Given the description of an element on the screen output the (x, y) to click on. 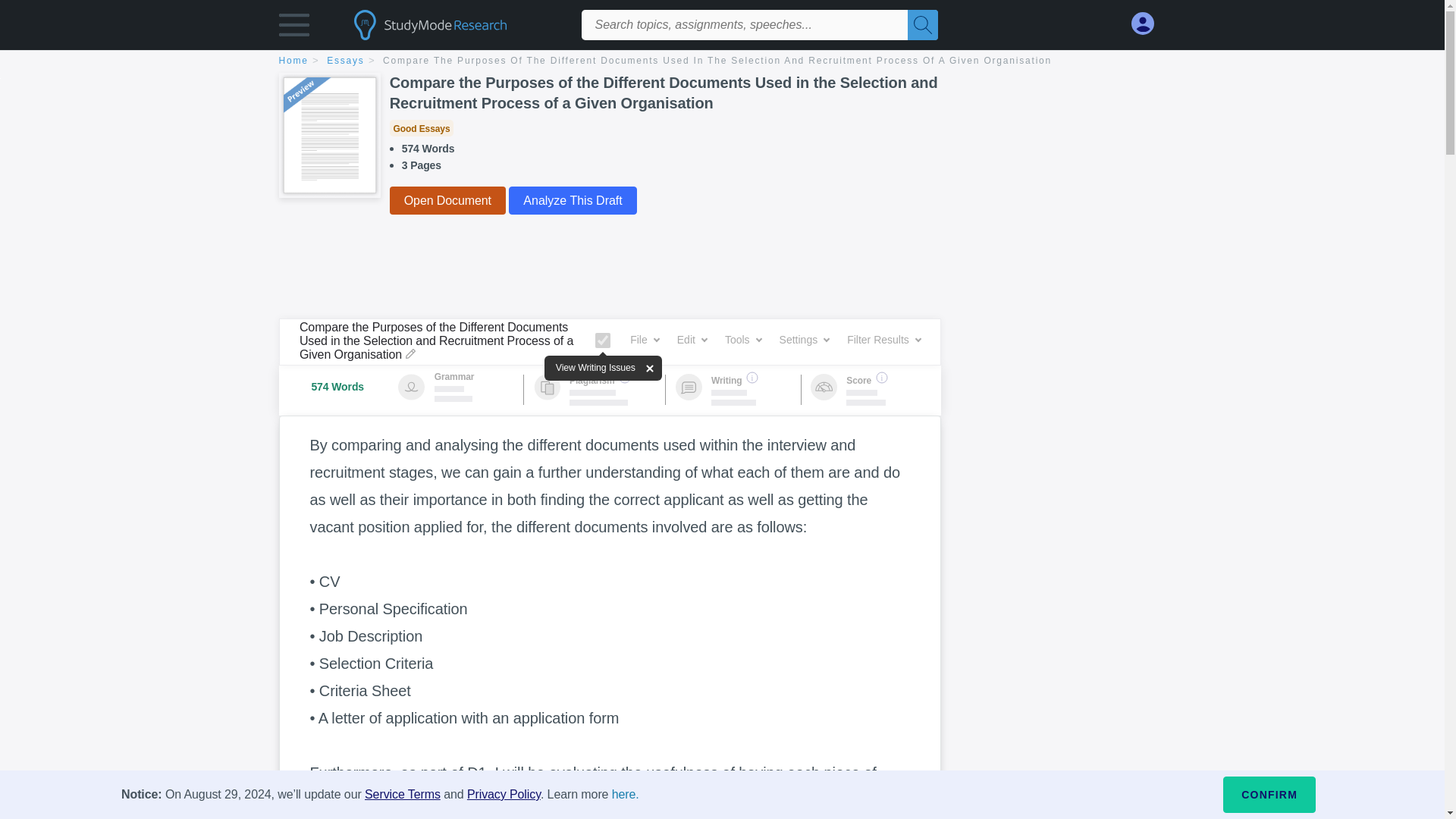
on (602, 340)
Filter Results (883, 339)
Edit (691, 339)
Tools (743, 339)
studymode logo (456, 24)
Settings (803, 339)
Open Document (447, 200)
Home (301, 60)
File (644, 339)
